Given the description of an element on the screen output the (x, y) to click on. 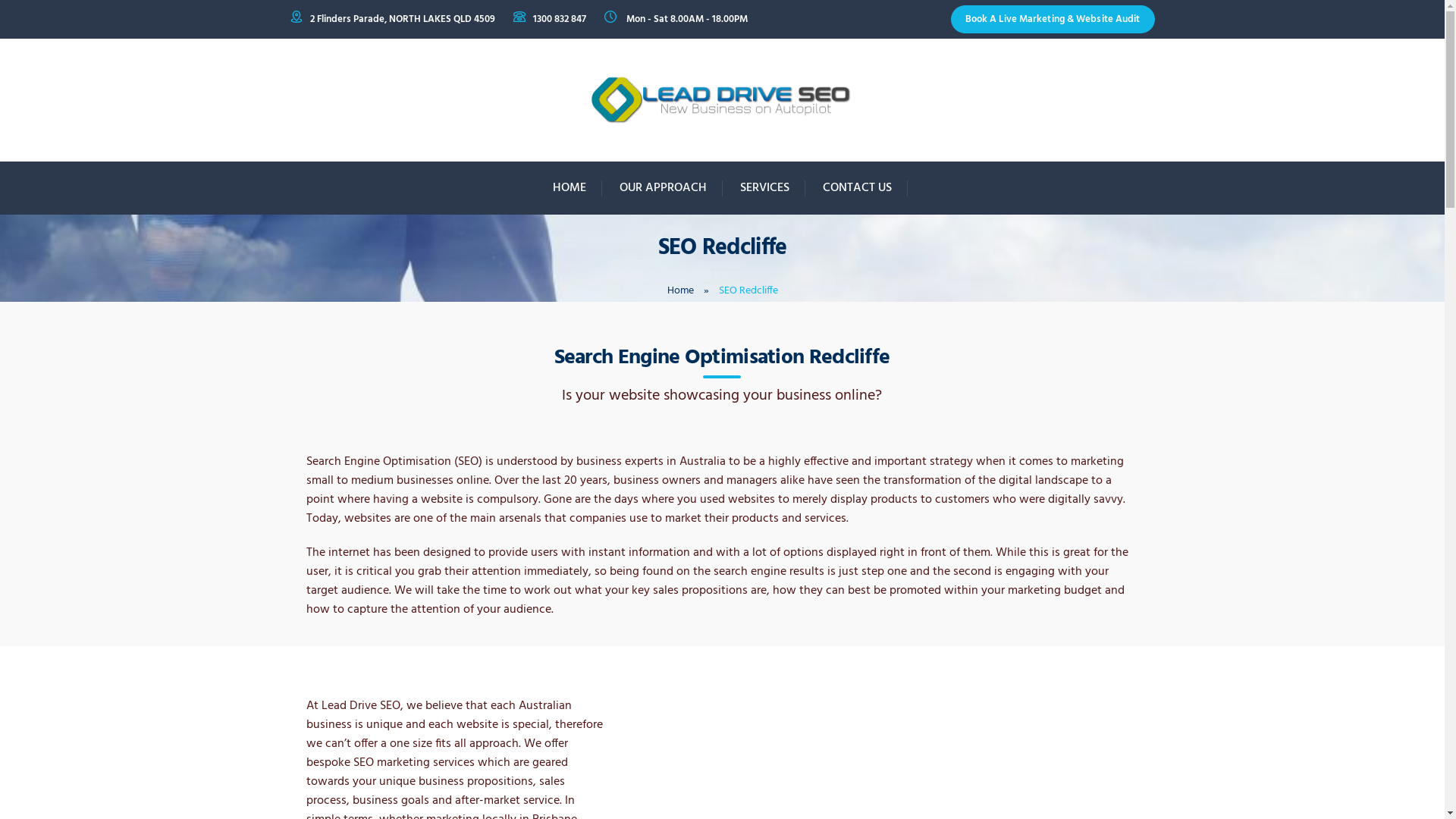
CONTACT US Element type: text (856, 188)
1300 832 847 Element type: text (558, 19)
SERVICES Element type: text (764, 188)
Home Element type: text (680, 291)
HOME Element type: text (568, 188)
Book A Live Marketing & Website Audit Element type: text (1052, 19)
OUR APPROACH Element type: text (662, 188)
